Given the description of an element on the screen output the (x, y) to click on. 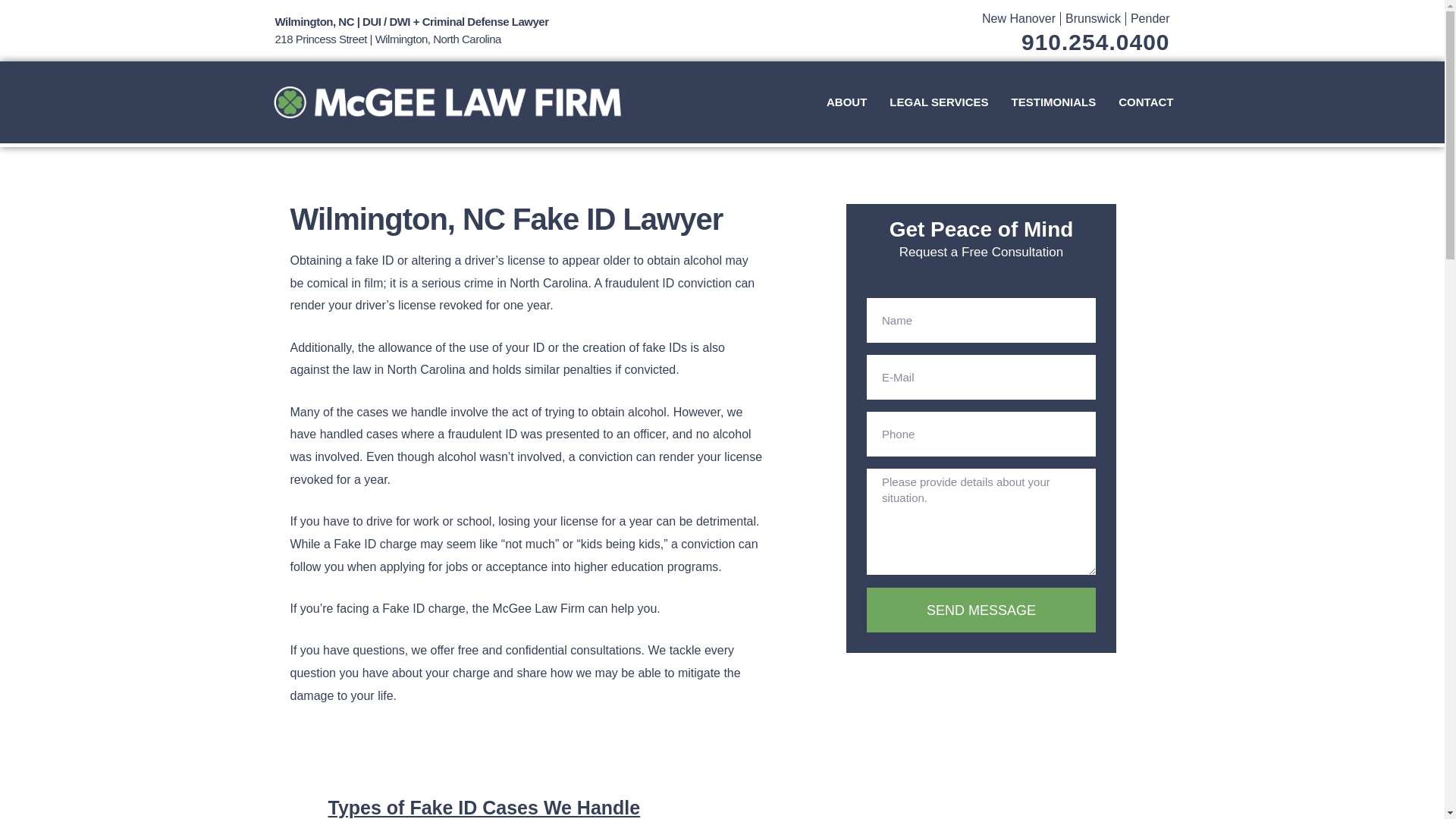
TESTIMONIALS (1054, 102)
CONTACT (1145, 102)
Pender (1150, 18)
Brunswick (1093, 18)
New Hanover (1018, 18)
SEND MESSAGE (981, 610)
LEGAL SERVICES (937, 102)
ABOUT (846, 102)
